Given the description of an element on the screen output the (x, y) to click on. 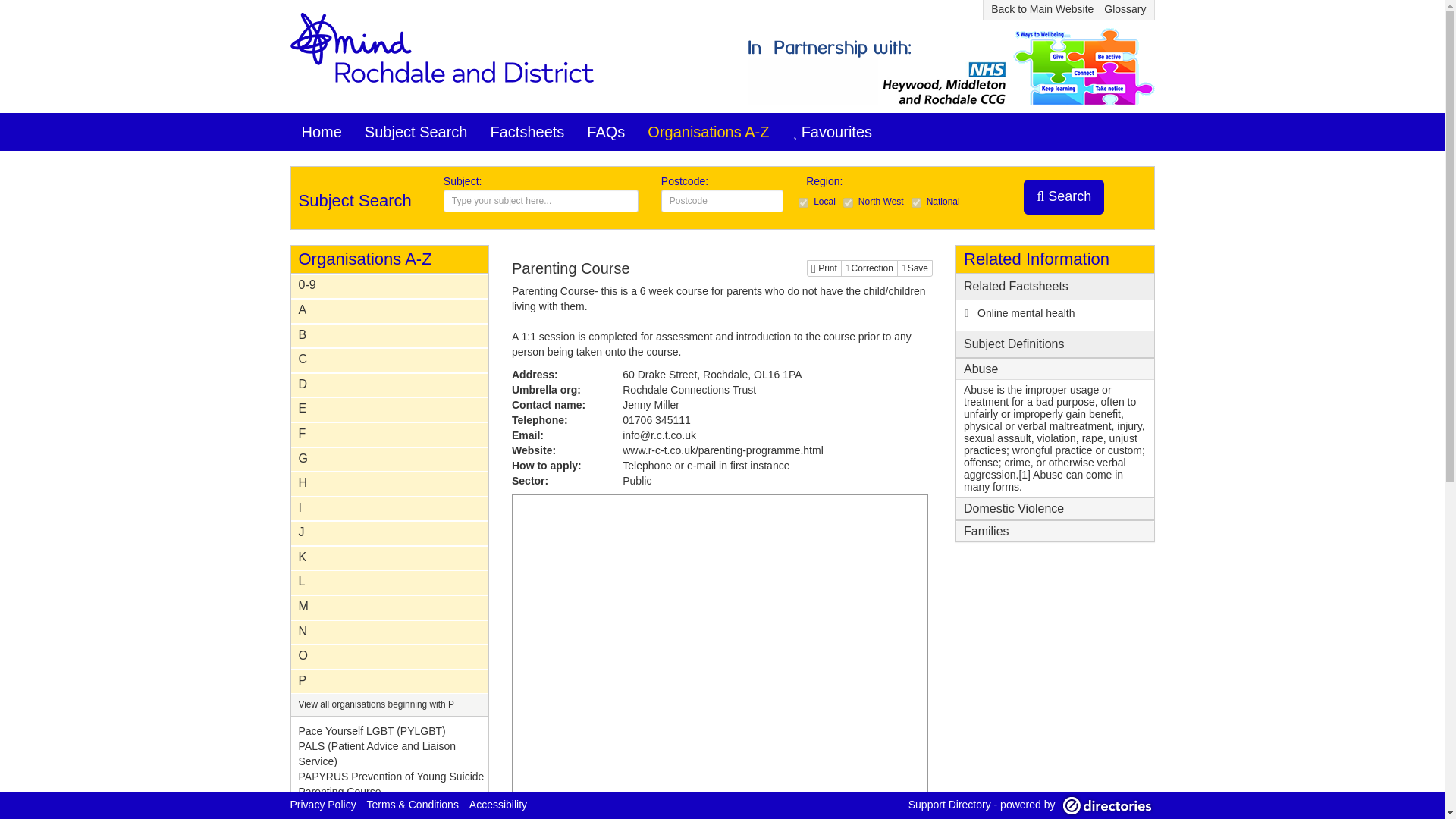
A (390, 309)
Favourites (831, 131)
FAQs (605, 131)
on (916, 203)
Home (320, 131)
on (848, 203)
Search (1063, 196)
on (802, 203)
Organisations A-Z (708, 131)
Glossary (1124, 9)
Subject Search (416, 131)
0-9 (390, 284)
Back to Main Website (1042, 9)
Factsheets (527, 131)
